Given the description of an element on the screen output the (x, y) to click on. 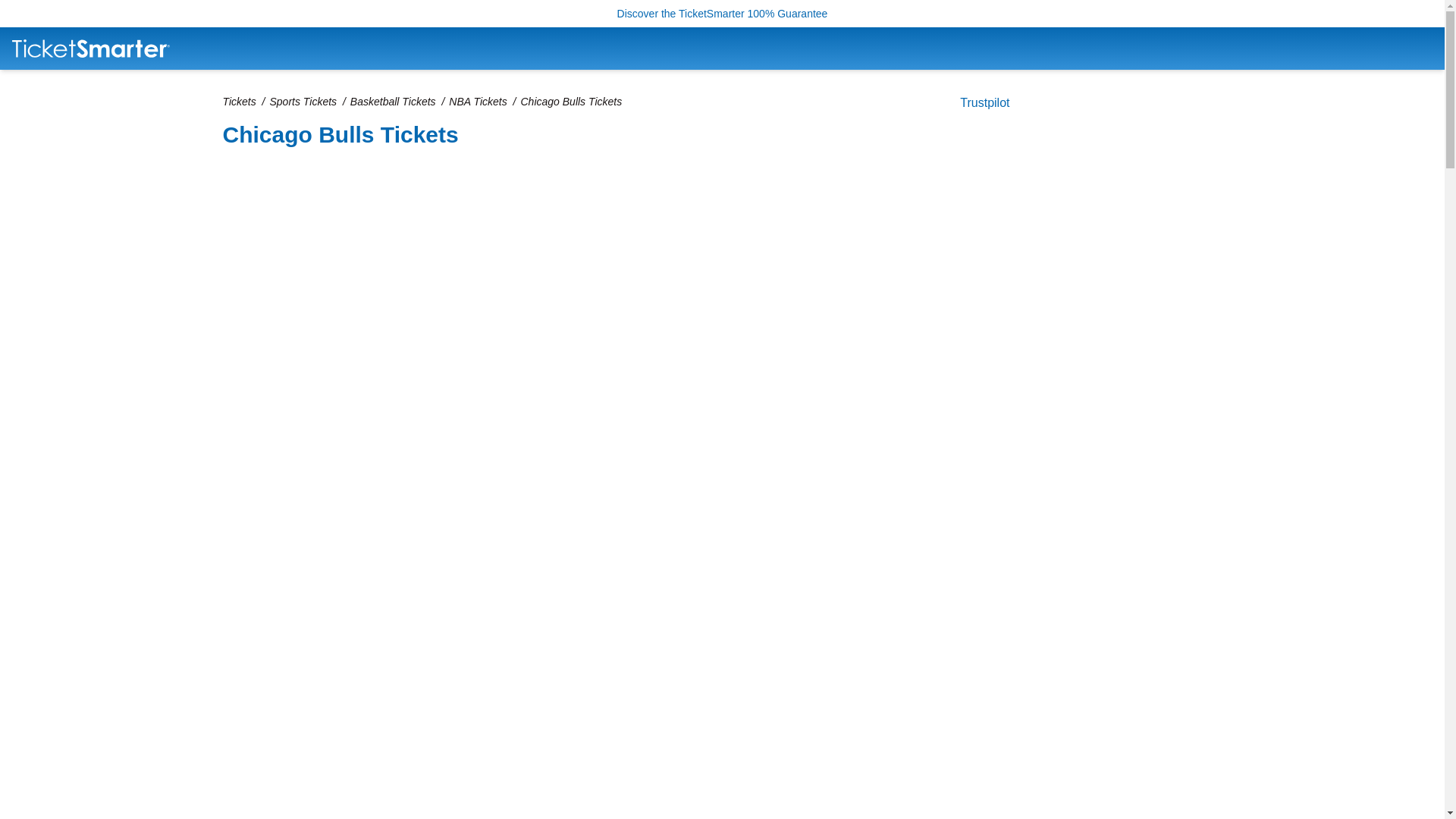
Basketball Tickets (392, 101)
Sports Tickets (303, 101)
Tickets (239, 101)
NBA Tickets (477, 101)
